Given the description of an element on the screen output the (x, y) to click on. 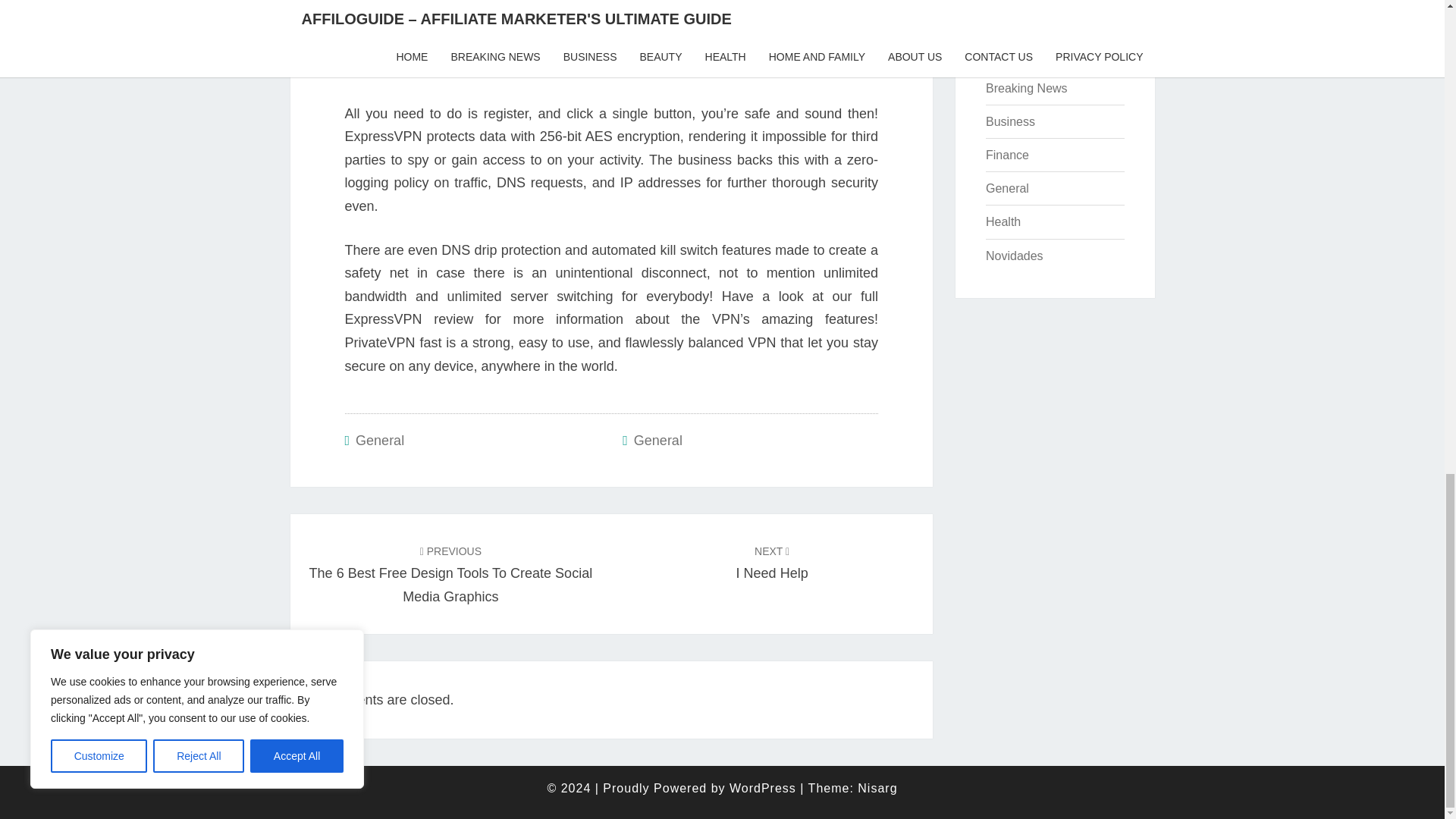
Beauty (1004, 54)
General (657, 440)
General (772, 561)
